Given the description of an element on the screen output the (x, y) to click on. 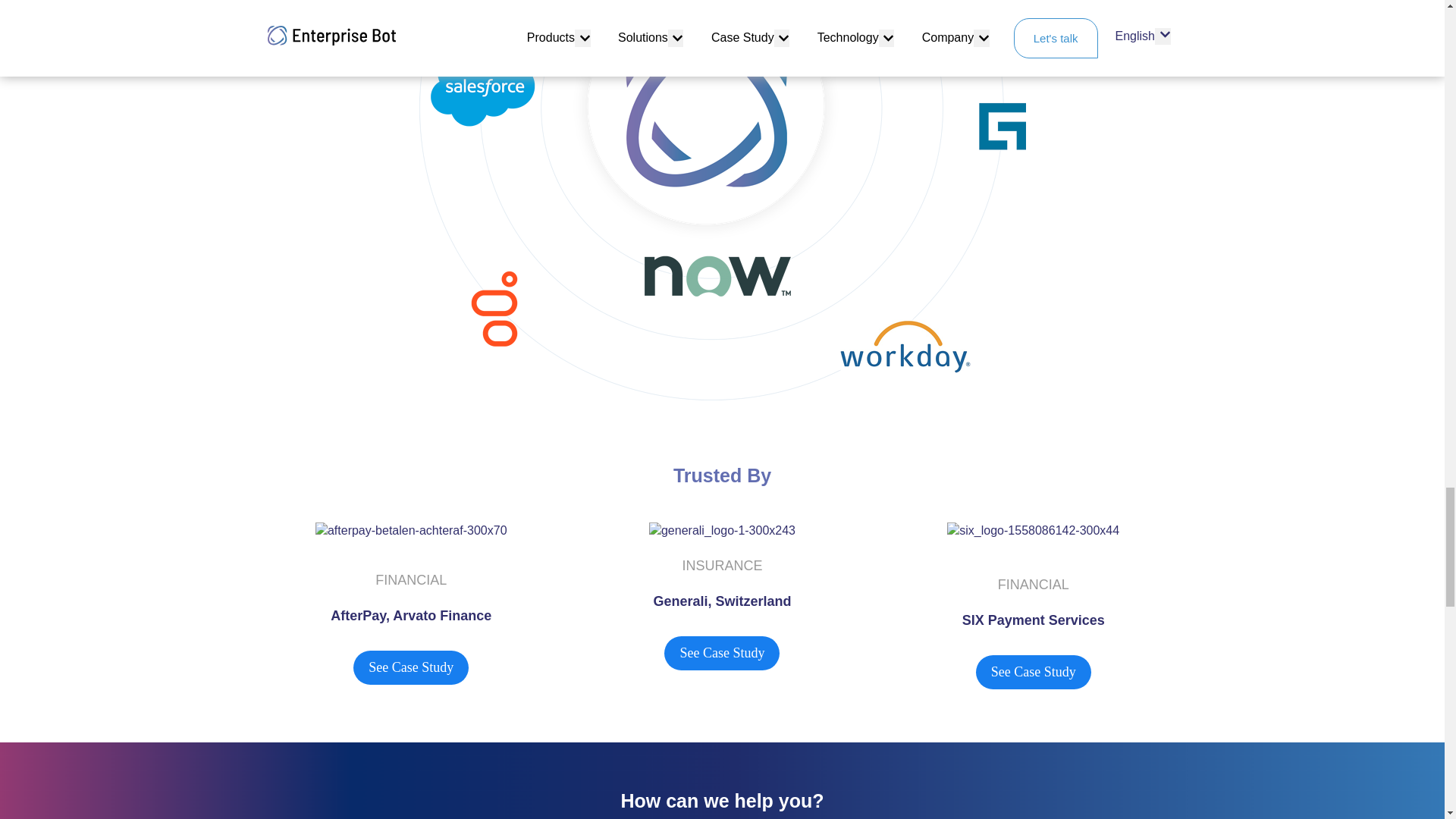
afterpay-betalen-achteraf-300x70 (410, 530)
